Given the description of an element on the screen output the (x, y) to click on. 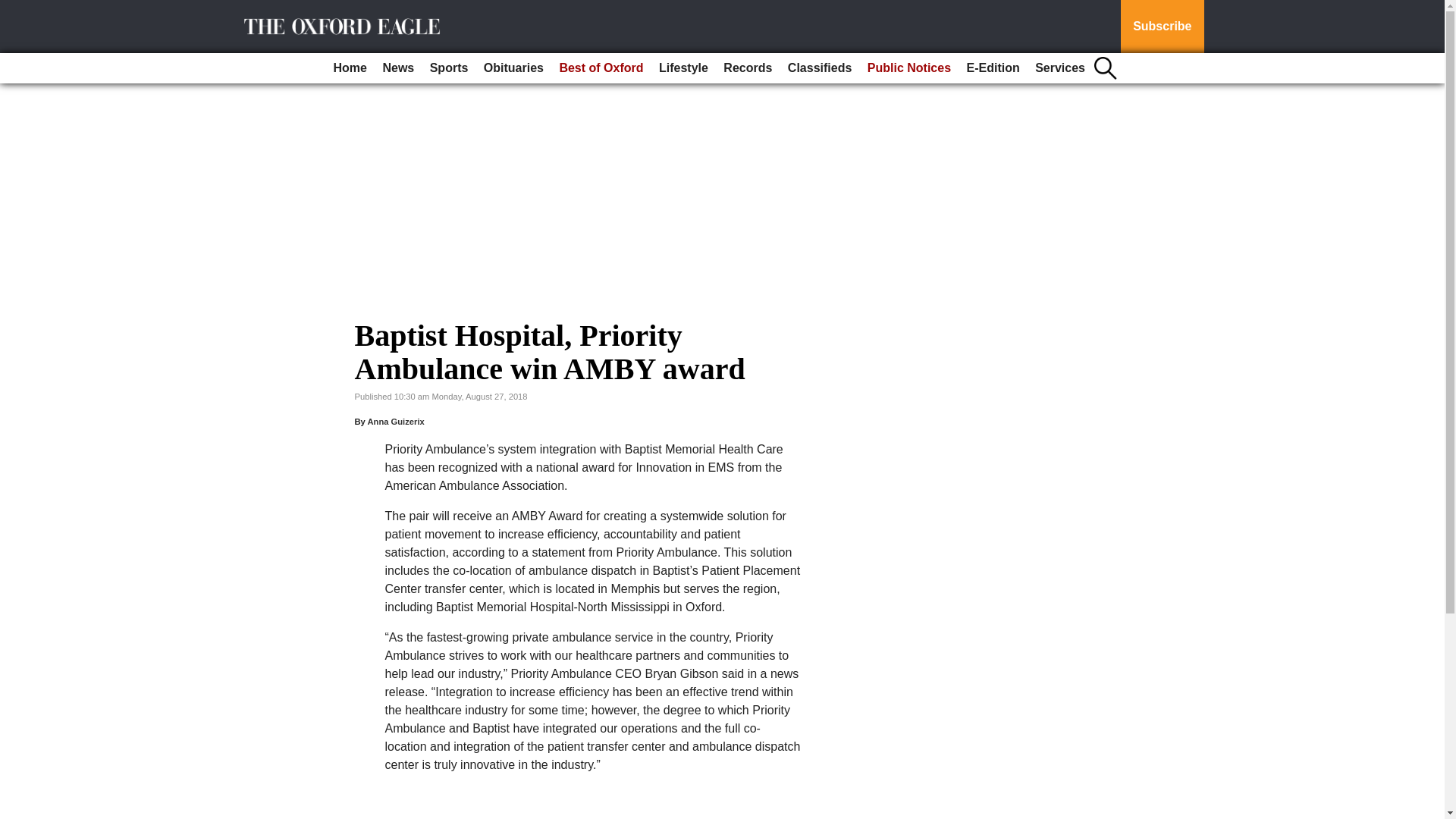
Home (349, 68)
Best of Oxford (601, 68)
Services (1059, 68)
Lifestyle (683, 68)
Sports (448, 68)
E-Edition (992, 68)
Public Notices (908, 68)
Subscribe (1162, 26)
Records (747, 68)
Go (13, 9)
News (397, 68)
Obituaries (513, 68)
Classifieds (819, 68)
Anna Guizerix (394, 420)
